Given the description of an element on the screen output the (x, y) to click on. 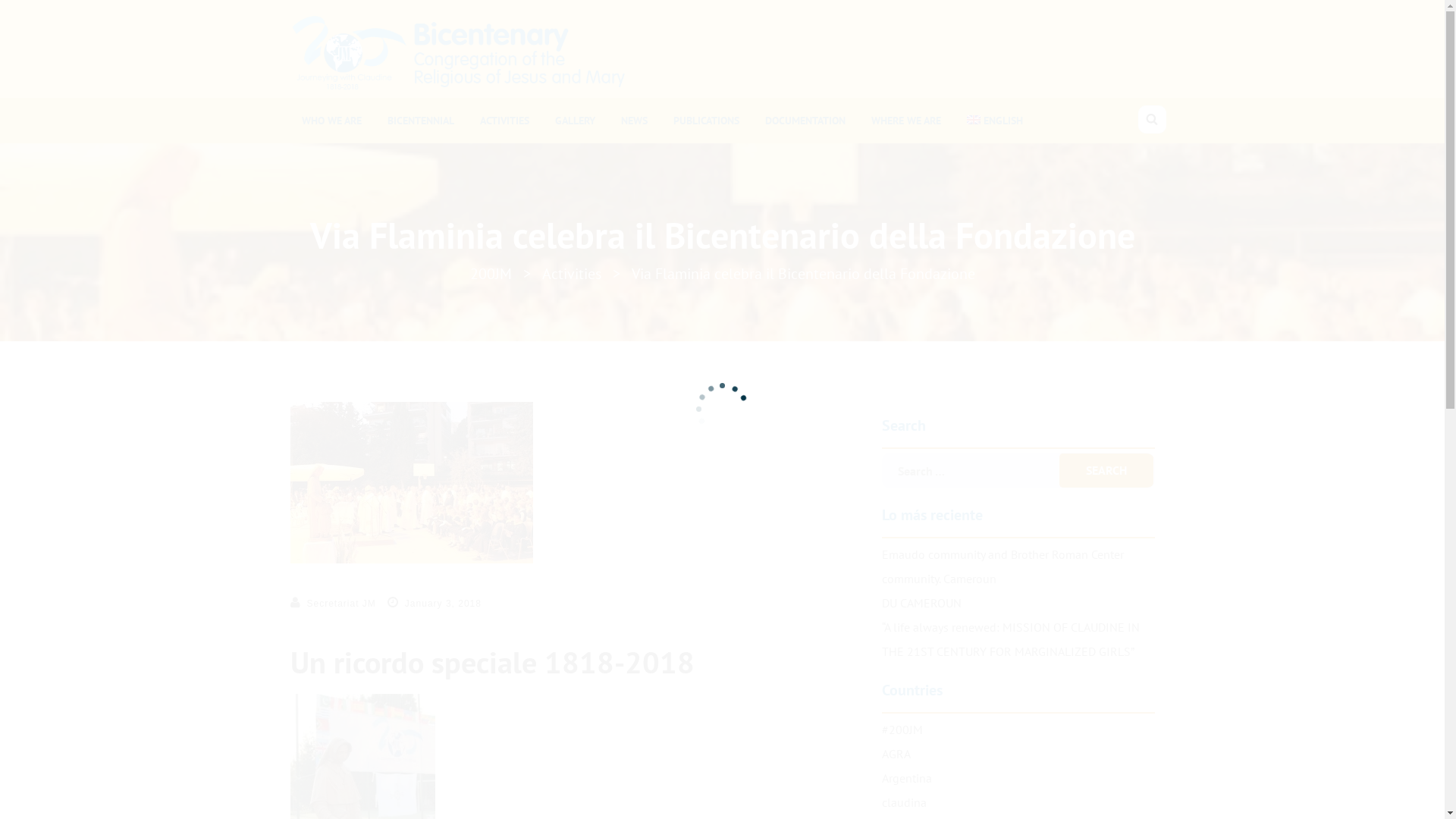
English Element type: hover (972, 119)
Argentina Element type: text (906, 777)
Activities Element type: text (570, 273)
ACTIVITIES Element type: text (504, 120)
claudina Element type: text (903, 801)
#200JM Element type: text (901, 729)
GALLERY Element type: text (573, 120)
WHO WE ARE Element type: text (330, 120)
AGRA Element type: text (895, 753)
PUBLICATIONS Element type: text (705, 120)
DOCUMENTATION Element type: text (804, 120)
NEWS Element type: text (633, 120)
Secretariat JM Element type: text (340, 603)
January 3, 2018 Element type: text (442, 603)
ENGLISH Element type: text (994, 120)
BICENTENNIAL Element type: text (420, 120)
Search Element type: text (4, 17)
Search Element type: text (1105, 470)
Un ricordo speciale 1818-2018 Element type: text (491, 661)
DU CAMEROUN Element type: text (920, 602)
200JM Element type: text (490, 273)
WHERE WE ARE Element type: text (905, 120)
